Given the description of an element on the screen output the (x, y) to click on. 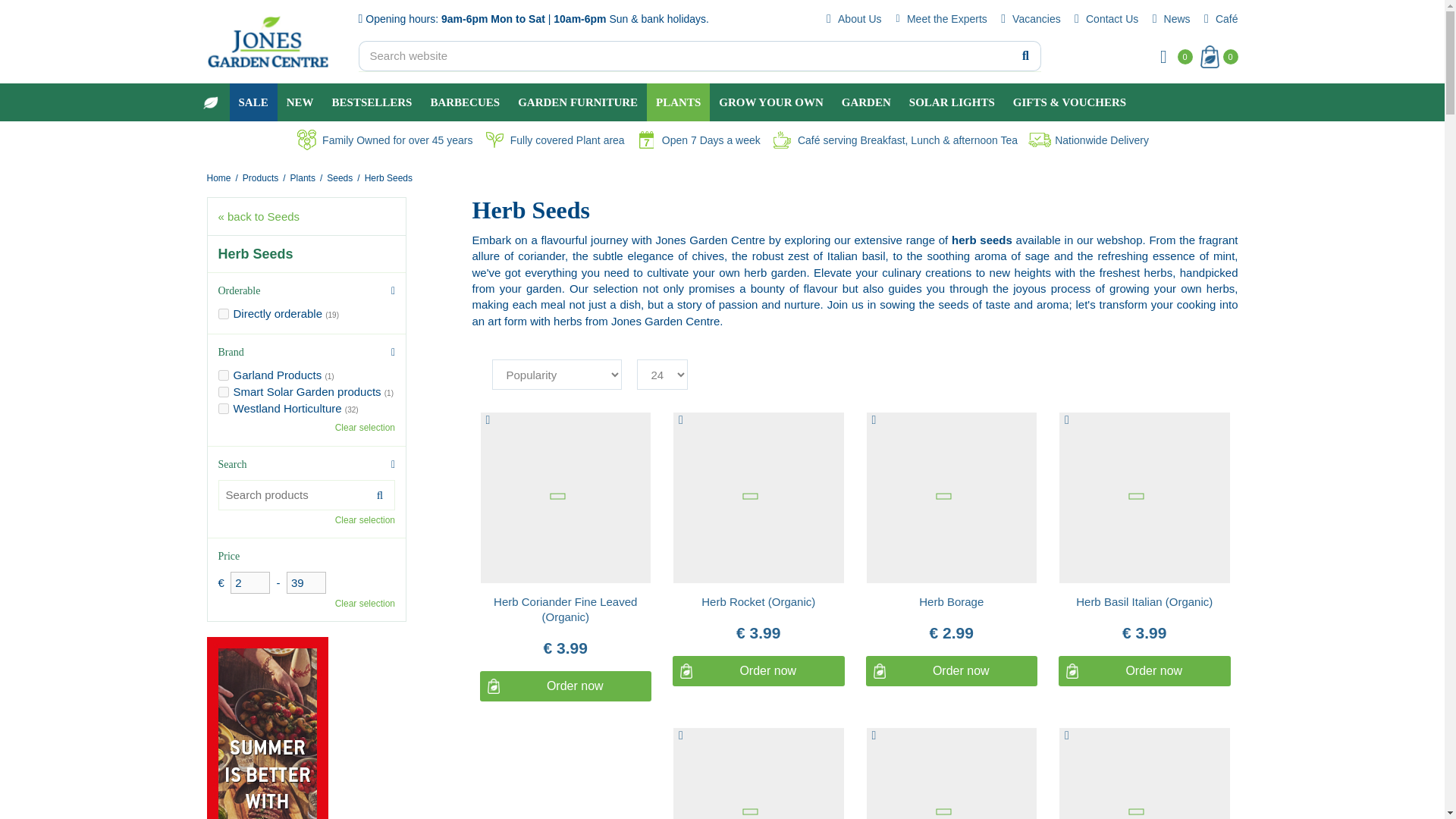
Seeds (339, 177)
News (1169, 18)
News (1169, 18)
Search (1024, 57)
HOME (209, 102)
GARDEN FURNITURE (577, 102)
Contact Us (1104, 18)
Vacancies (1029, 18)
Home (218, 177)
About Us (852, 18)
